Given the description of an element on the screen output the (x, y) to click on. 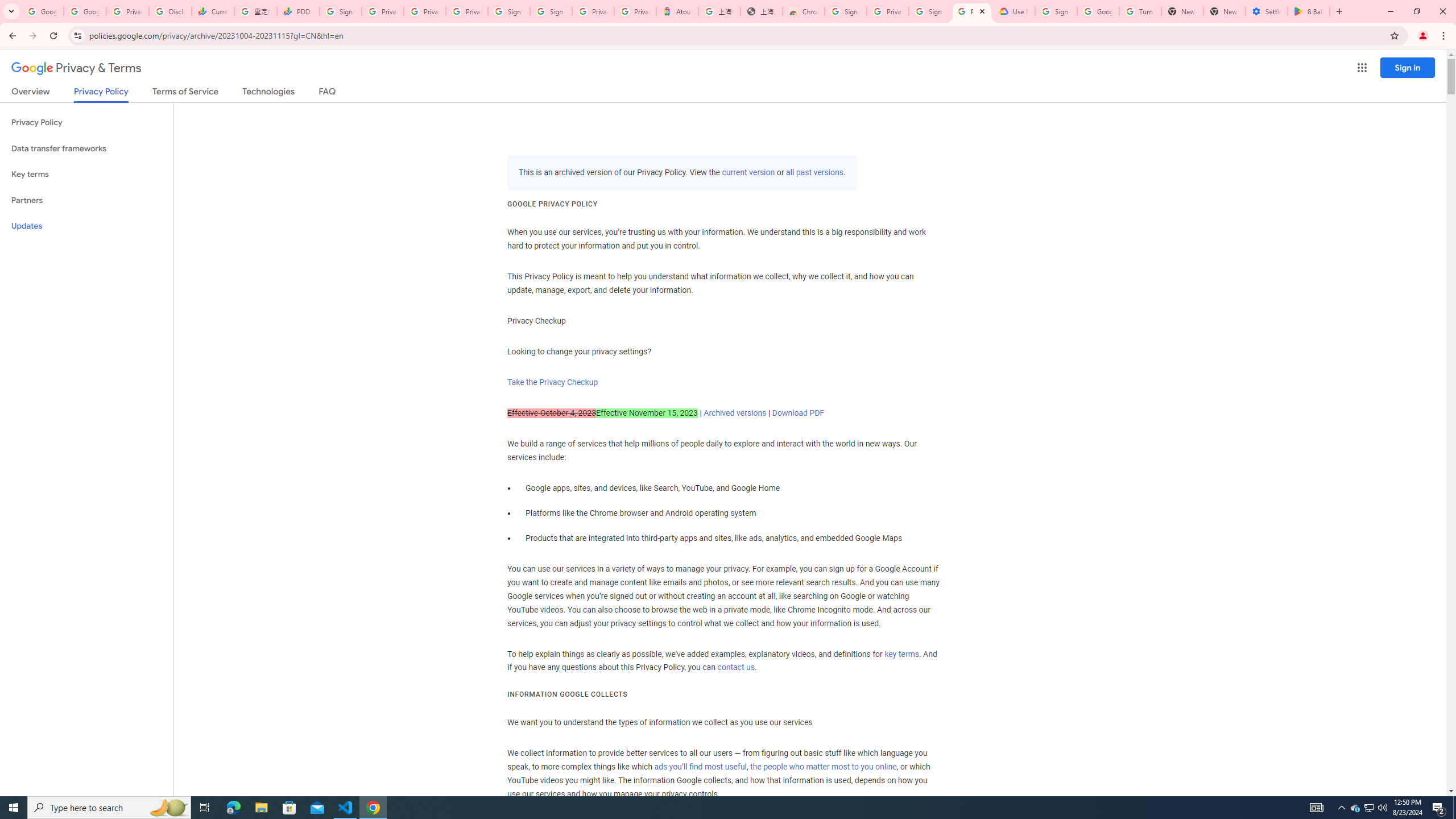
Chrome Web Store - Color themes by Chrome (803, 11)
Sign in - Google Accounts (509, 11)
New Tab (1224, 11)
Settings - System (1266, 11)
Sign in - Google Accounts (845, 11)
